Given the description of an element on the screen output the (x, y) to click on. 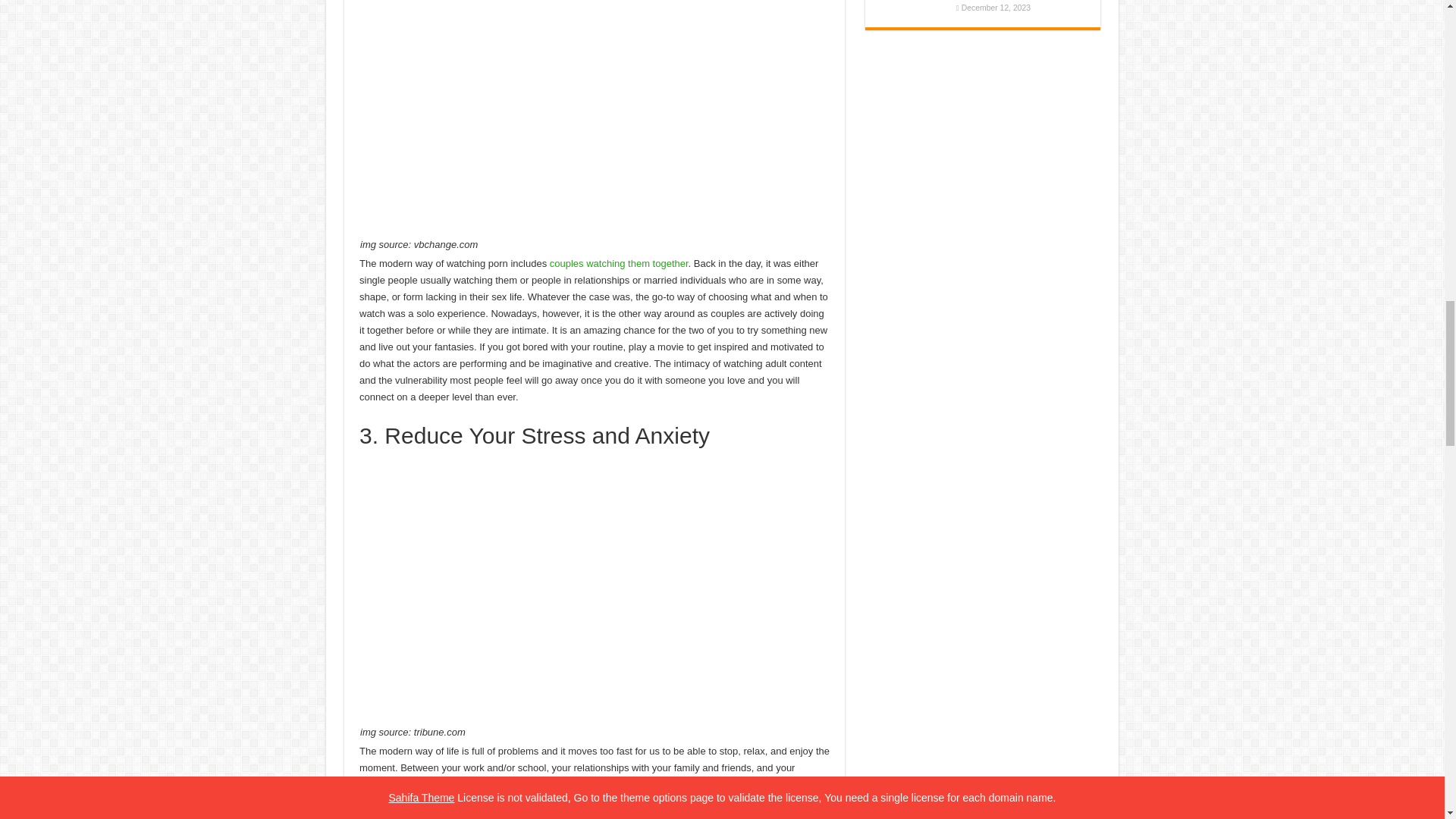
couples watching them together (619, 263)
